Given the description of an element on the screen output the (x, y) to click on. 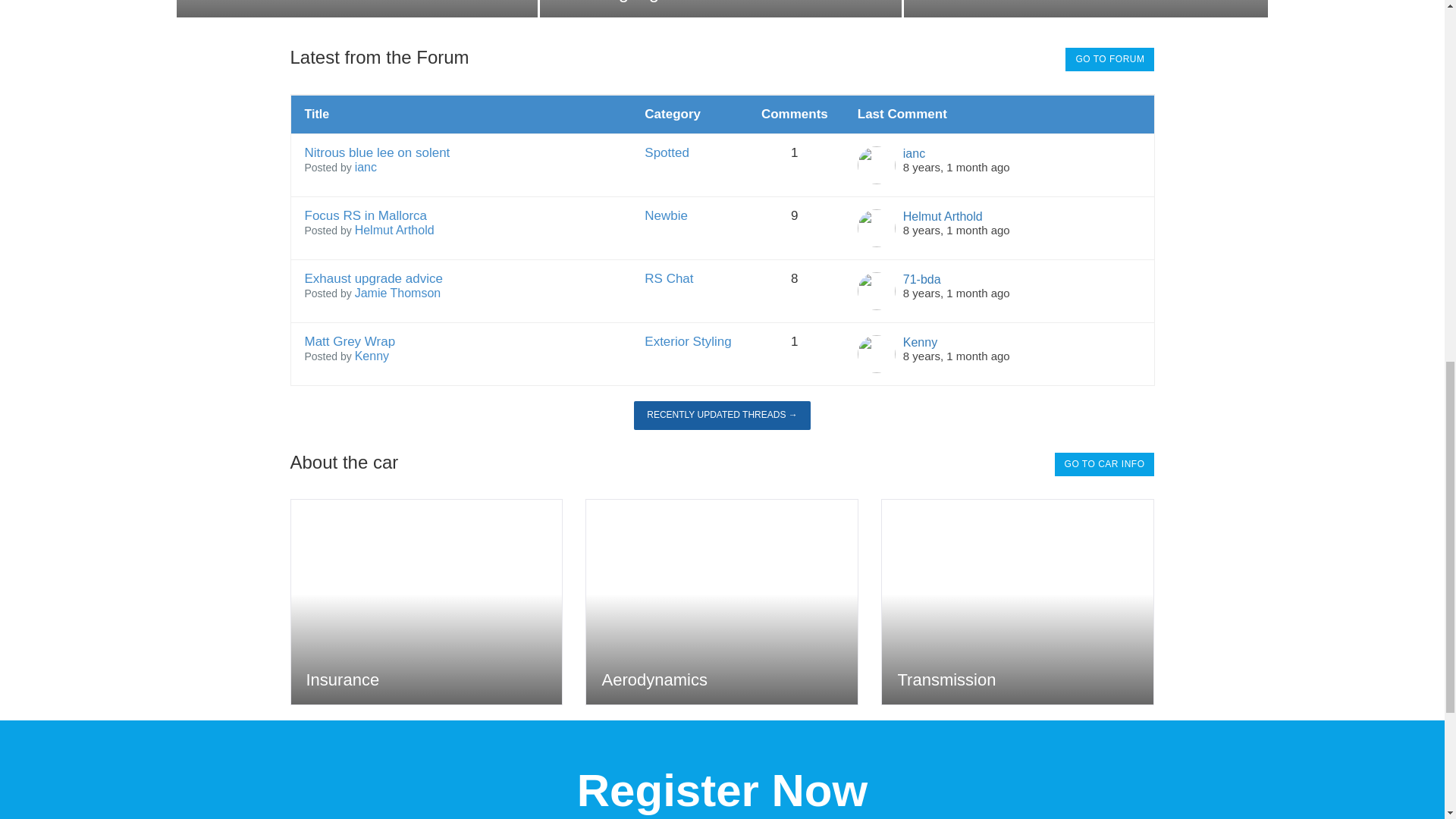
View 71-bda's profile (921, 278)
View Kenny's profile (371, 356)
Reply To: Exhaust upgrade advice (956, 292)
Matt Grey Wrap (956, 355)
Reply To: Focus RS in Mallorca (956, 229)
View ianc's profile (913, 152)
View Helmut Arthold's profile (394, 230)
View Helmut Arthold's profile (942, 215)
View Kenny's profile (919, 341)
Nitrous blue lee on solent (956, 166)
